Given the description of an element on the screen output the (x, y) to click on. 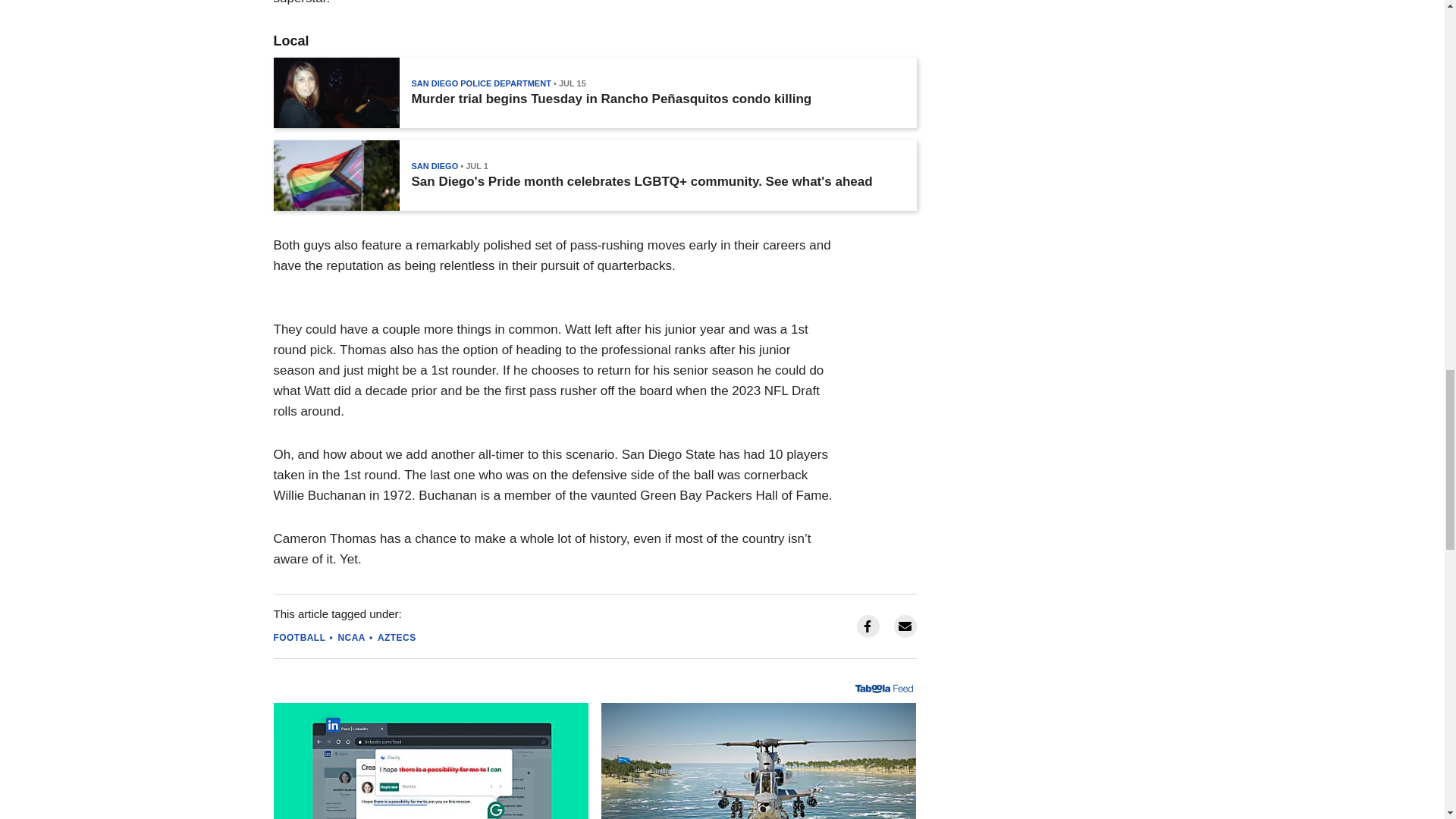
SAN DIEGO POLICE DEPARTMENT (480, 82)
FOOTBALL (298, 637)
Clear, Compelling Writing in Seconds With This Desktop App (430, 760)
SAN DIEGO (434, 165)
